Given the description of an element on the screen output the (x, y) to click on. 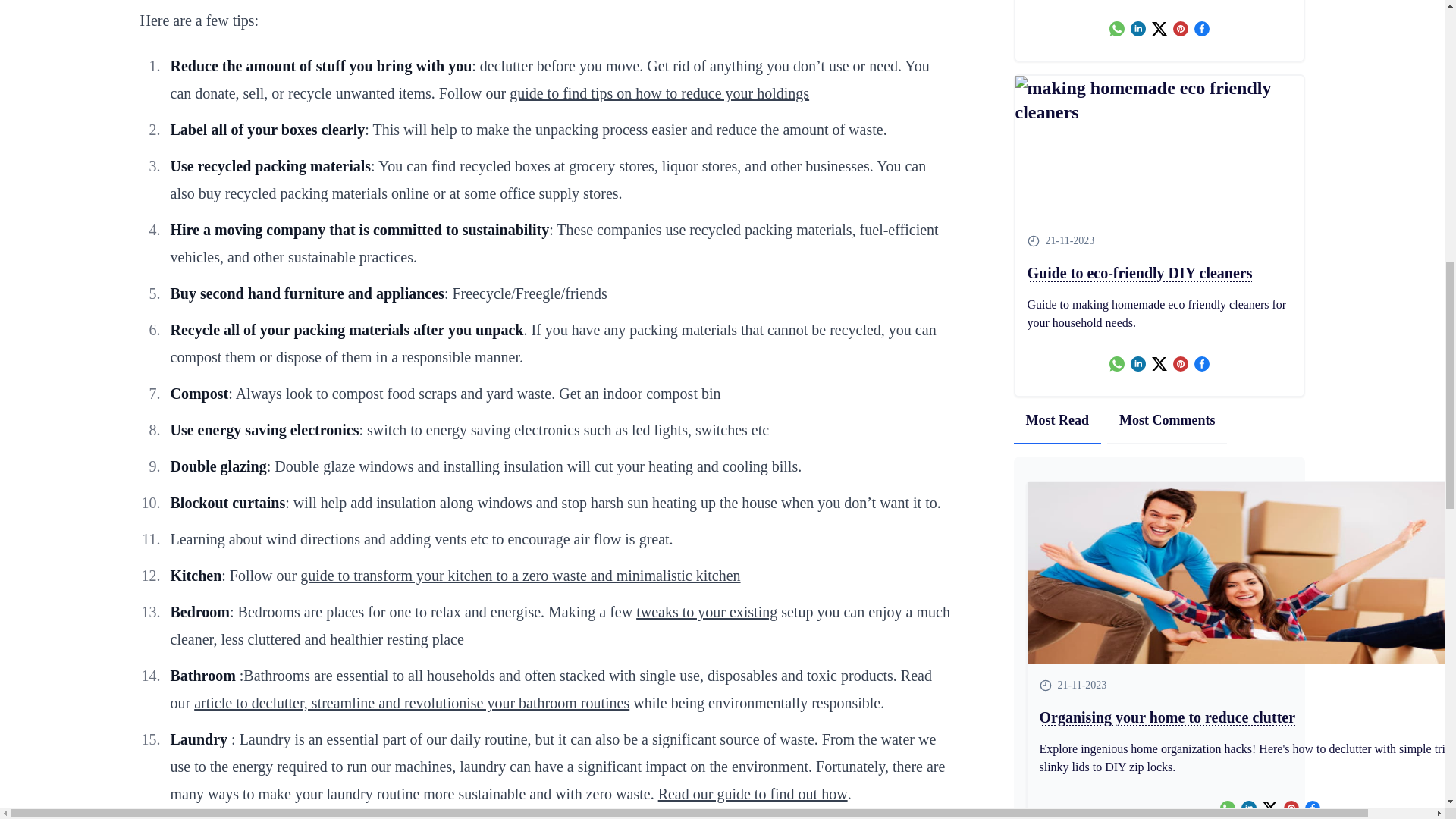
Read our guide to find out how (752, 793)
tweaks to your existing (706, 611)
guide to find tips on how to reduce your holdings (659, 93)
